Given the description of an element on the screen output the (x, y) to click on. 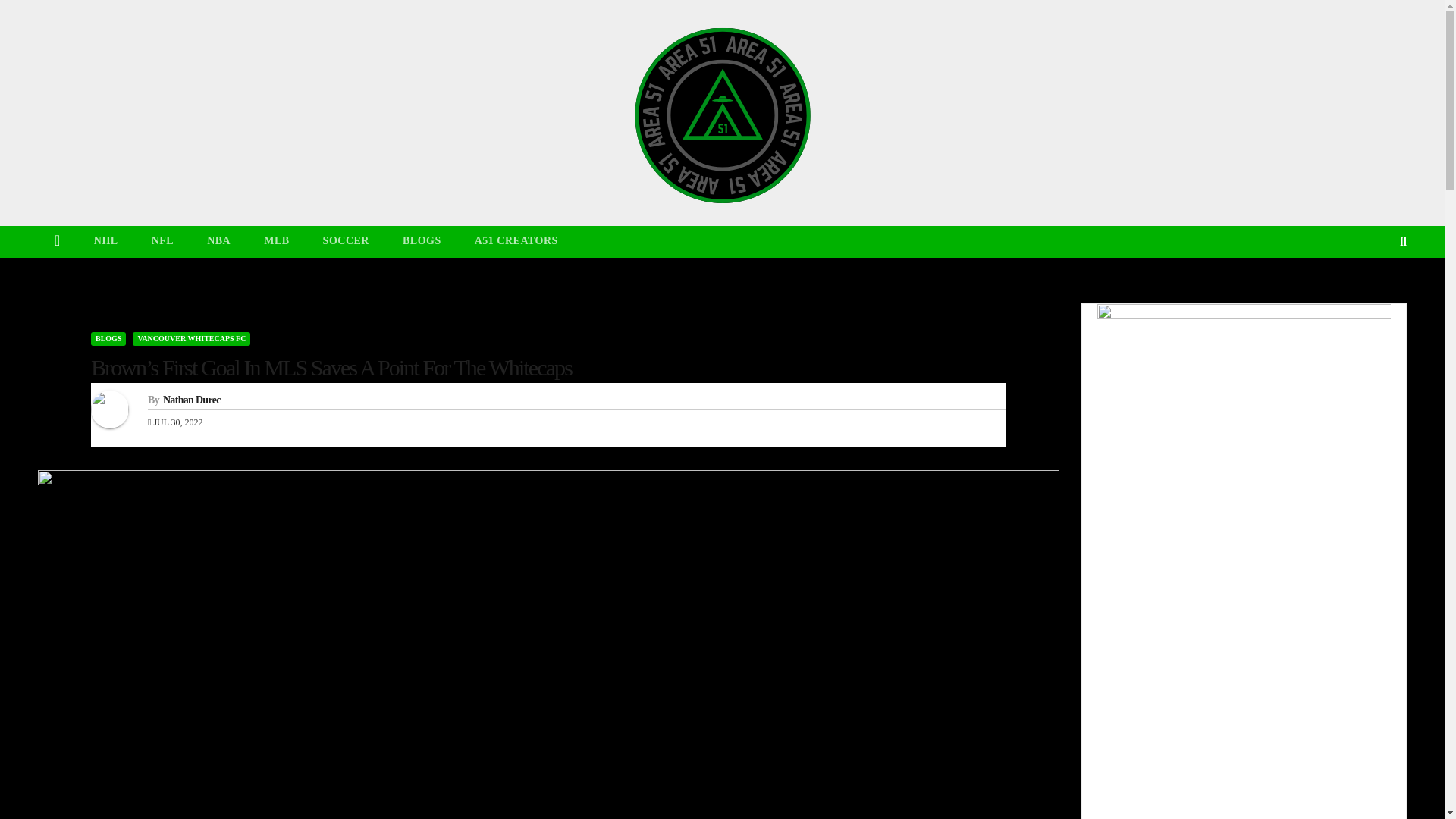
NFL (162, 241)
BLOGS (107, 338)
NFL (162, 241)
NBA (218, 241)
BLOGS (421, 241)
MLB (276, 241)
A51 CREATORS (516, 241)
SOCCER (345, 241)
A51 CREATORS (516, 241)
Nathan Durec (192, 399)
VANCOUVER WHITECAPS FC (191, 338)
NBA (218, 241)
NHL (106, 241)
NHL (106, 241)
MLB (276, 241)
